Given the description of an element on the screen output the (x, y) to click on. 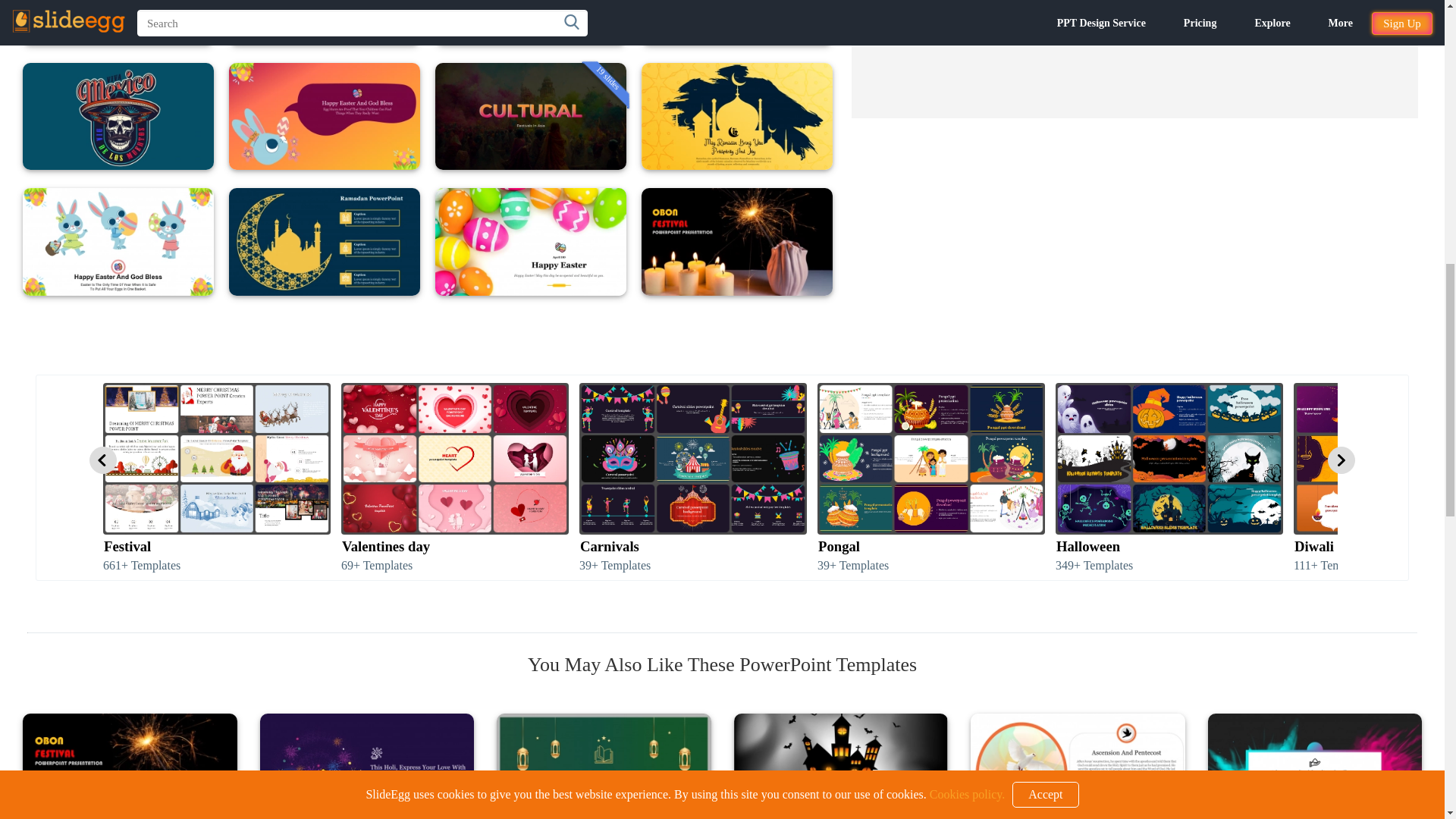
Creative Eid Ul Fitr PowerPoint and Google Slides Templates (603, 766)
Halloween Theme PowerPoint Slide With Abandoned House (841, 766)
Impressive Obon PowerPoint Presentation Slide Template (130, 766)
Creative Holi PowerPoint Template Presentation Slide  (366, 766)
Advertisement (1134, 58)
Best Ascension And Pentecost PowerPoint Presentation (1078, 766)
